Given the description of an element on the screen output the (x, y) to click on. 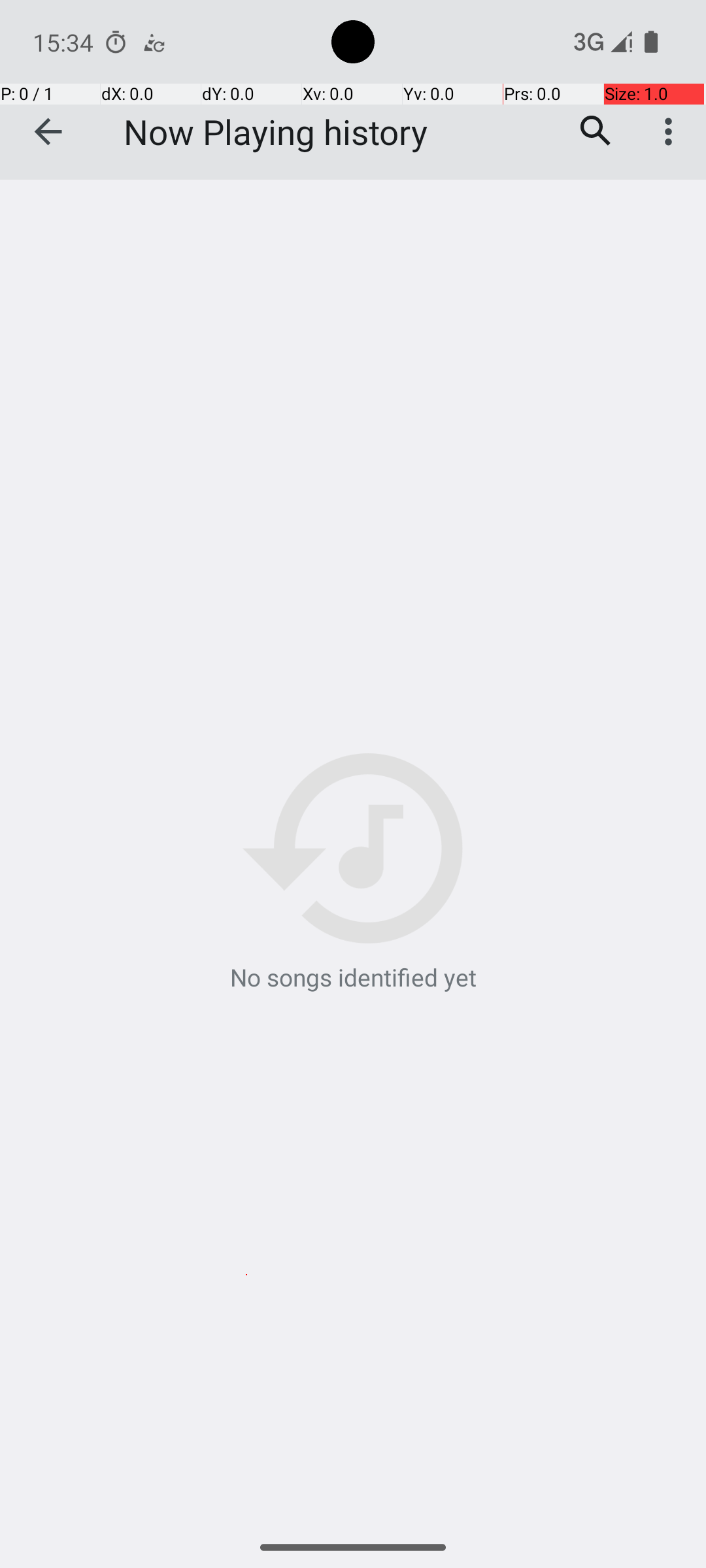
Now Playing history Element type: android.widget.TextView (275, 131)
No songs identified yet Element type: android.widget.TextView (353, 873)
